Given the description of an element on the screen output the (x, y) to click on. 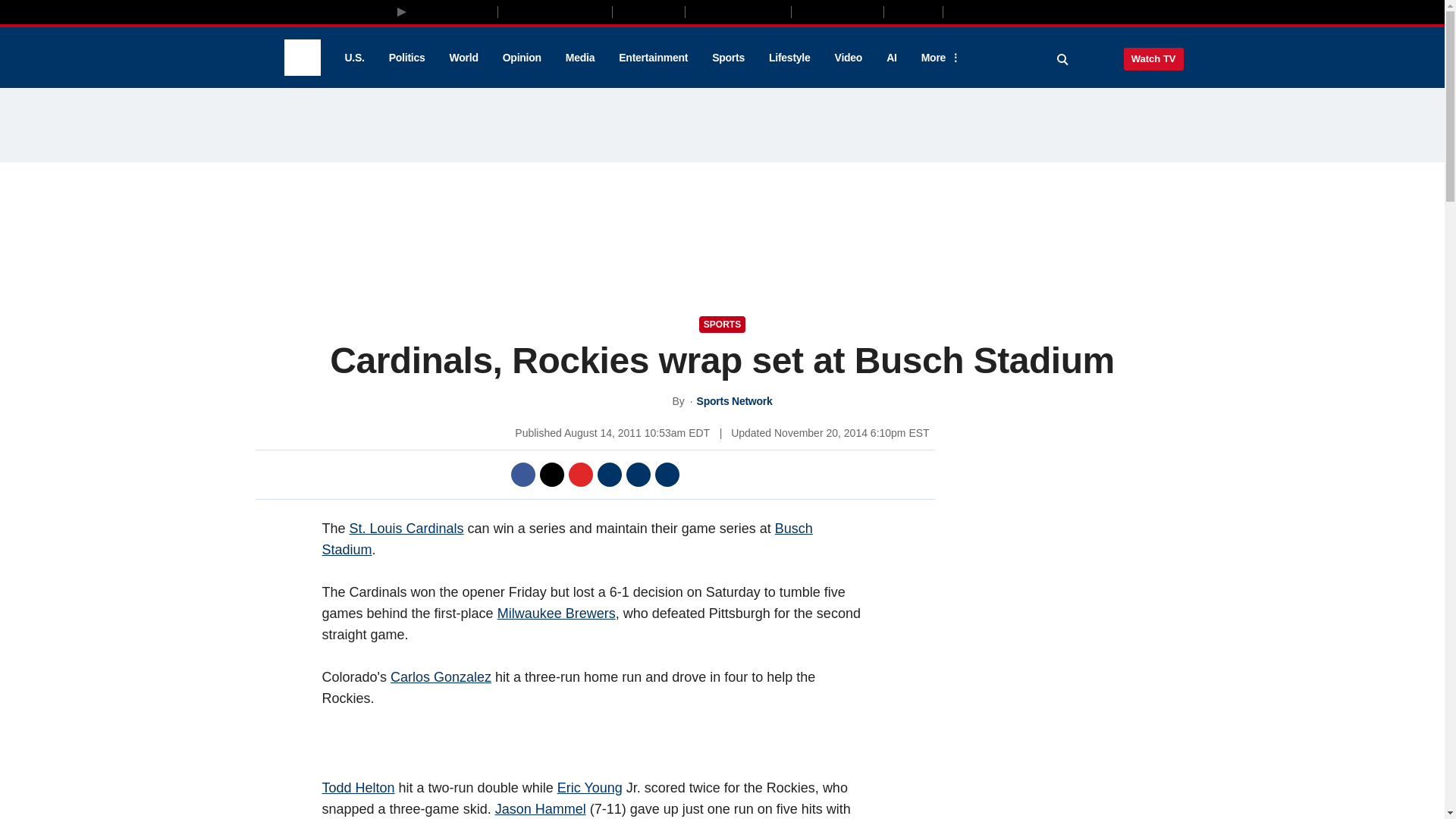
Fox Business (554, 11)
Fox News Media (453, 11)
World (464, 57)
Outkick (912, 11)
Sports (728, 57)
Lifestyle (789, 57)
Video (848, 57)
More (938, 57)
Fox News Audio (737, 11)
Opinion (521, 57)
U.S. (353, 57)
Watch TV (1153, 58)
AI (891, 57)
Fox Weather (836, 11)
Media (580, 57)
